Given the description of an element on the screen output the (x, y) to click on. 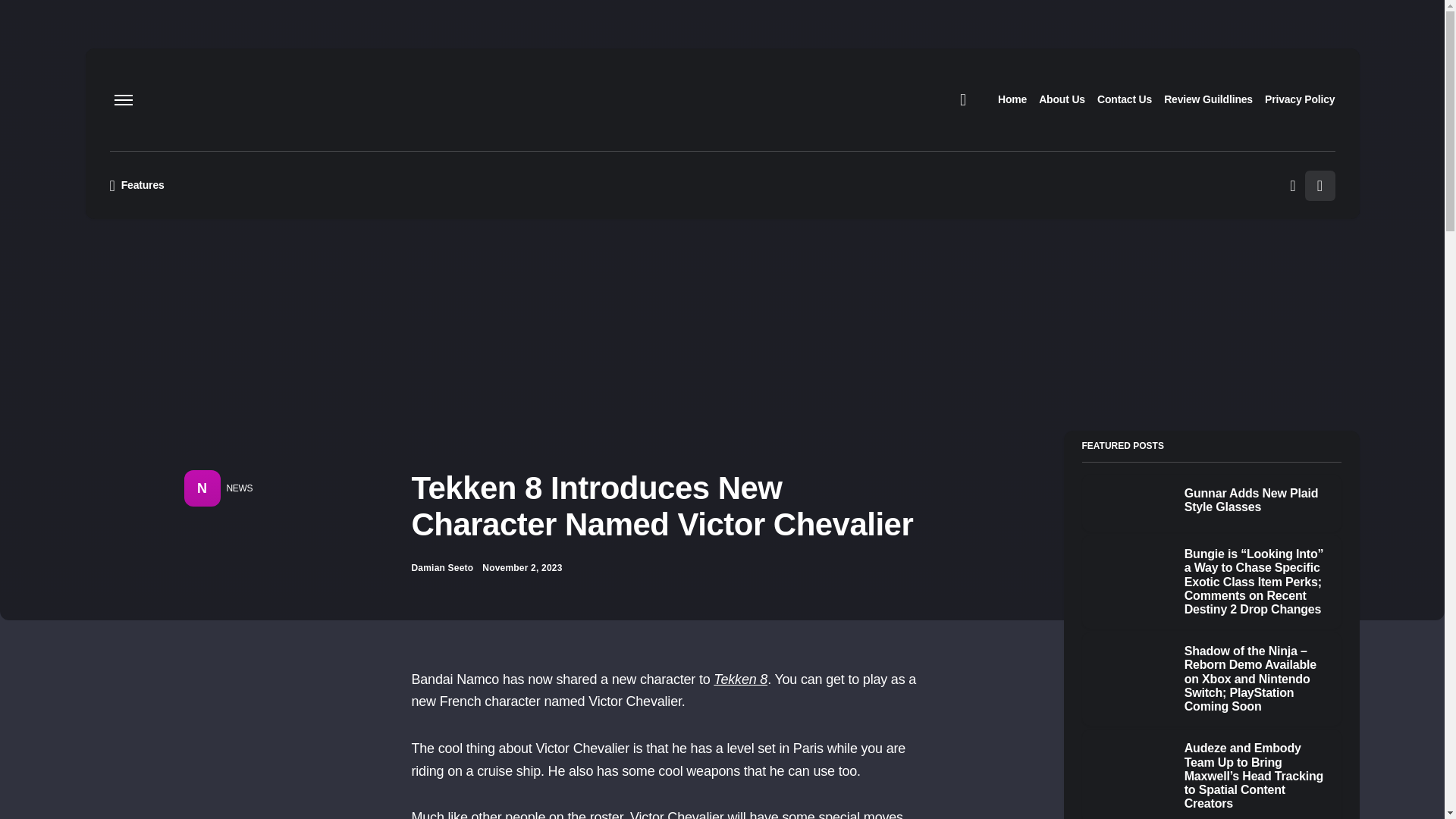
View all posts by Damian Seeto (441, 567)
